Given the description of an element on the screen output the (x, y) to click on. 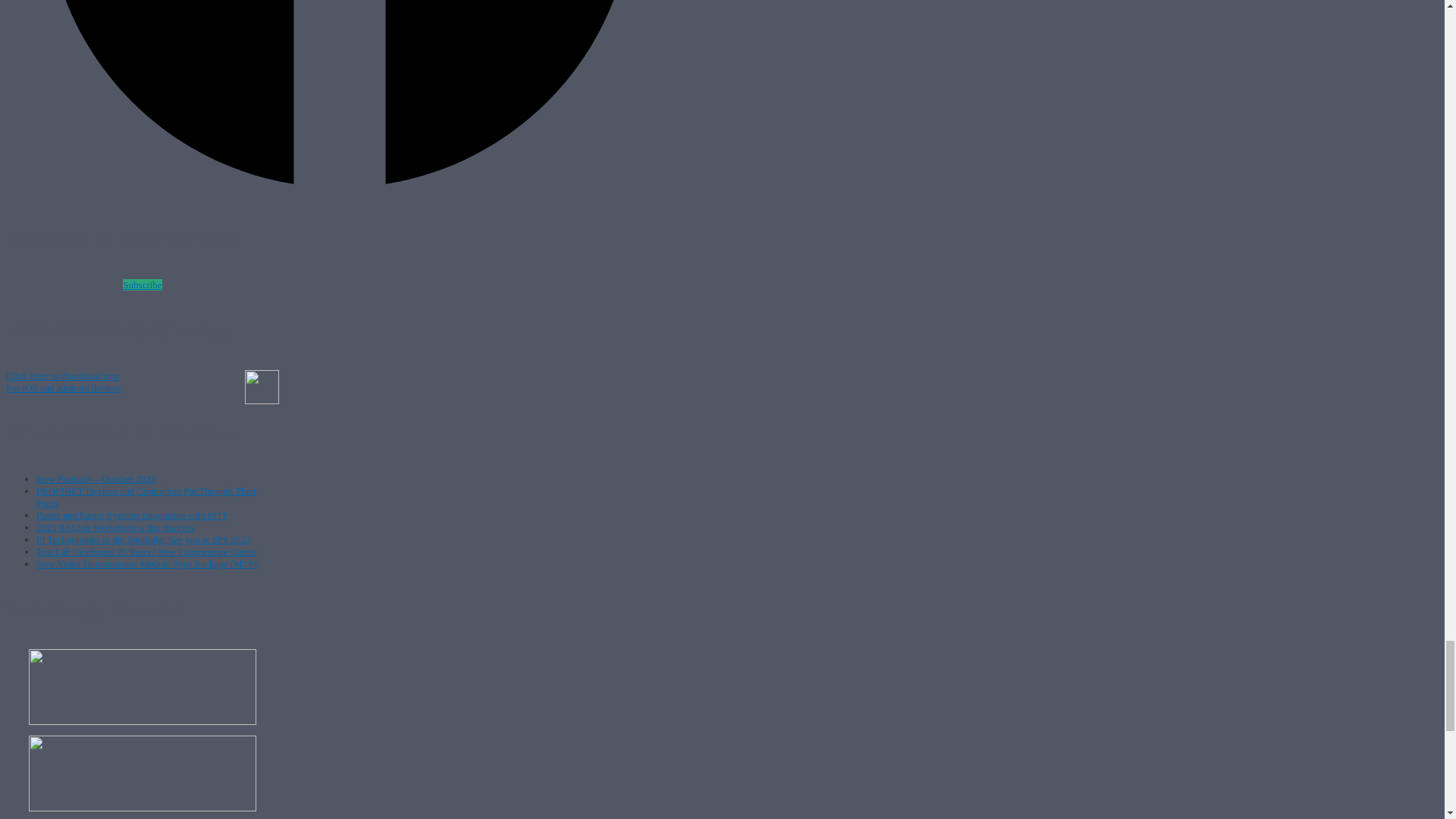
PROFIBUS and PROFINET News (62, 381)
